Given the description of an element on the screen output the (x, y) to click on. 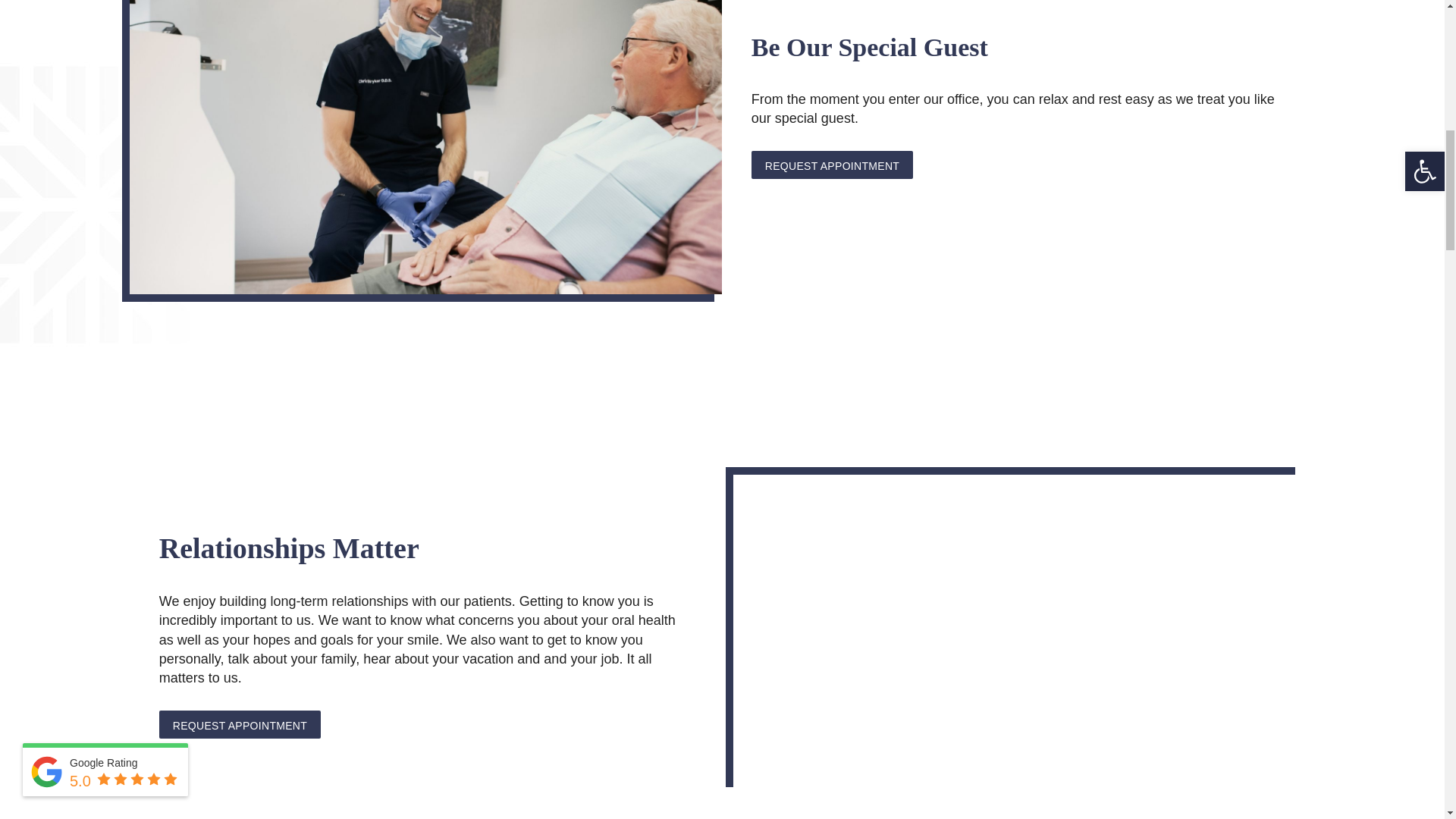
Request an Appointment (831, 164)
Request an Appointment (239, 724)
